Given the description of an element on the screen output the (x, y) to click on. 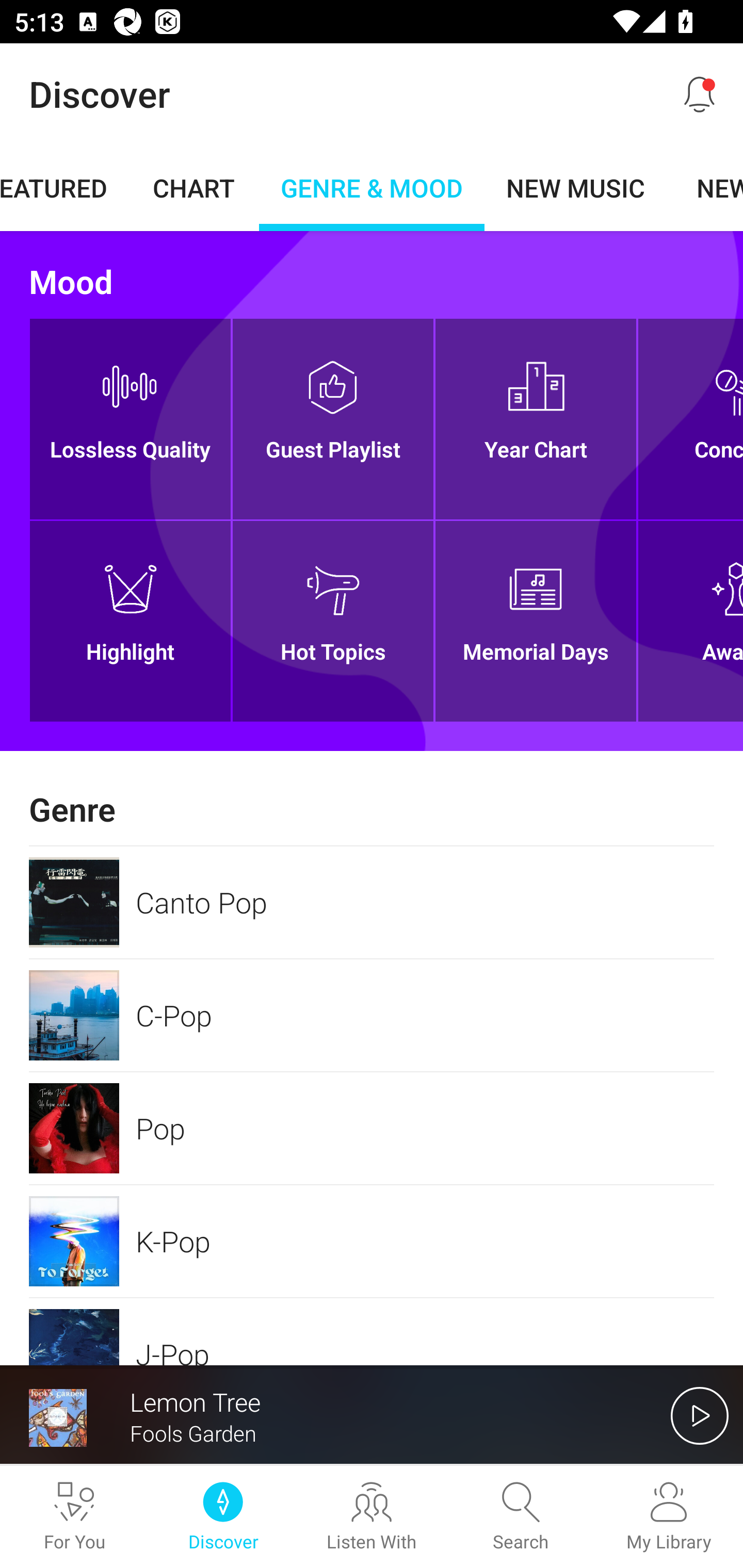
Notification (699, 93)
FEATURED (64, 187)
CHART (194, 187)
NEW MUSIC (575, 187)
Lossless Quality (129, 418)
Guest Playlist (332, 418)
Year Chart (535, 418)
Highlight (129, 620)
Hot Topics (332, 620)
Memorial Days (535, 620)
Canto Pop (371, 902)
C-Pop (371, 1014)
Pop (371, 1127)
K-Pop (371, 1240)
J-Pop (371, 1331)
開始播放 (699, 1415)
For You (74, 1517)
Discover (222, 1517)
Listen With (371, 1517)
Search (519, 1517)
My Library (668, 1517)
